Given the description of an element on the screen output the (x, y) to click on. 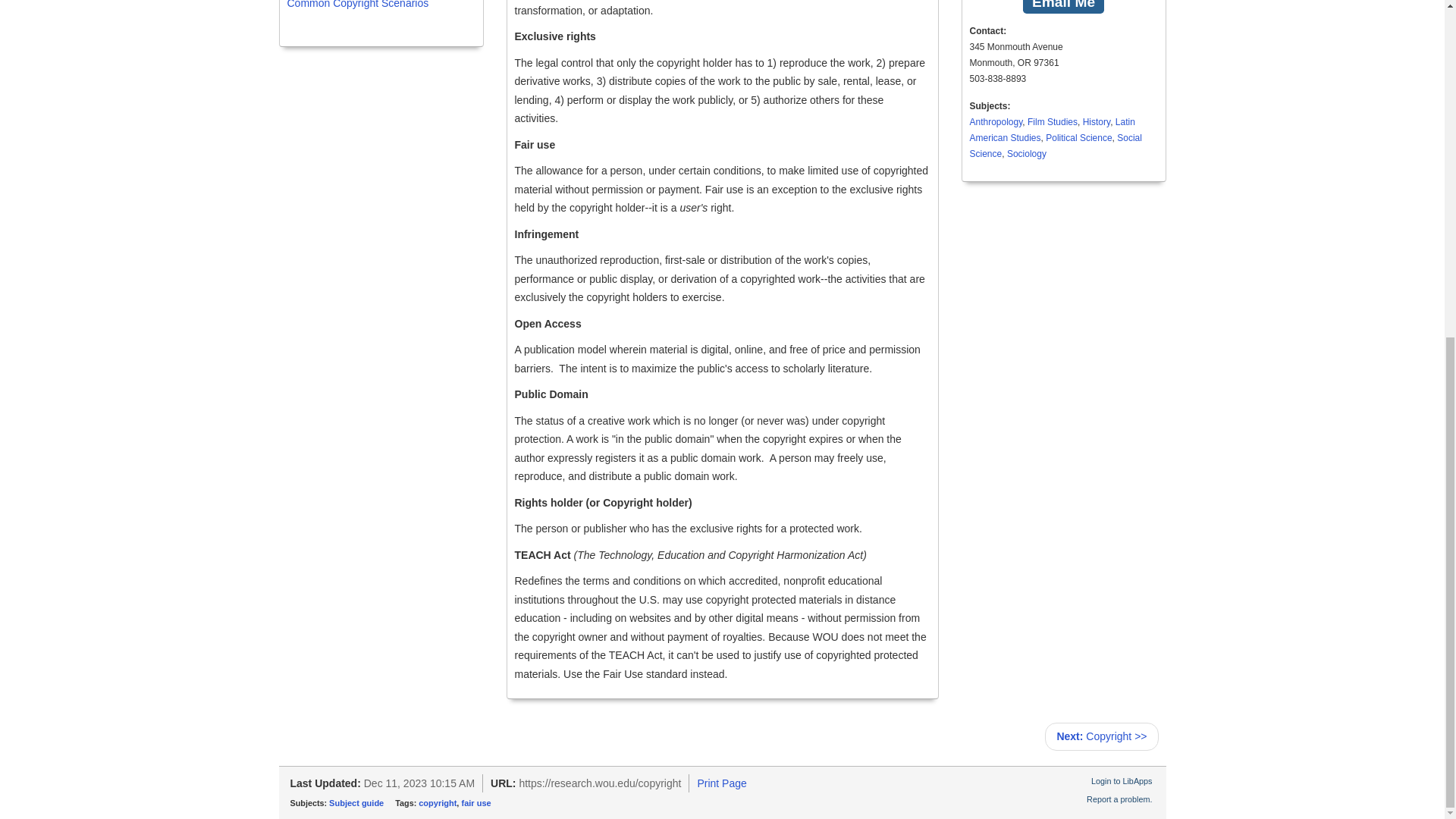
Common Copyright Scenarios (357, 4)
Email Me (1063, 7)
Anthropology (995, 122)
